Given the description of an element on the screen output the (x, y) to click on. 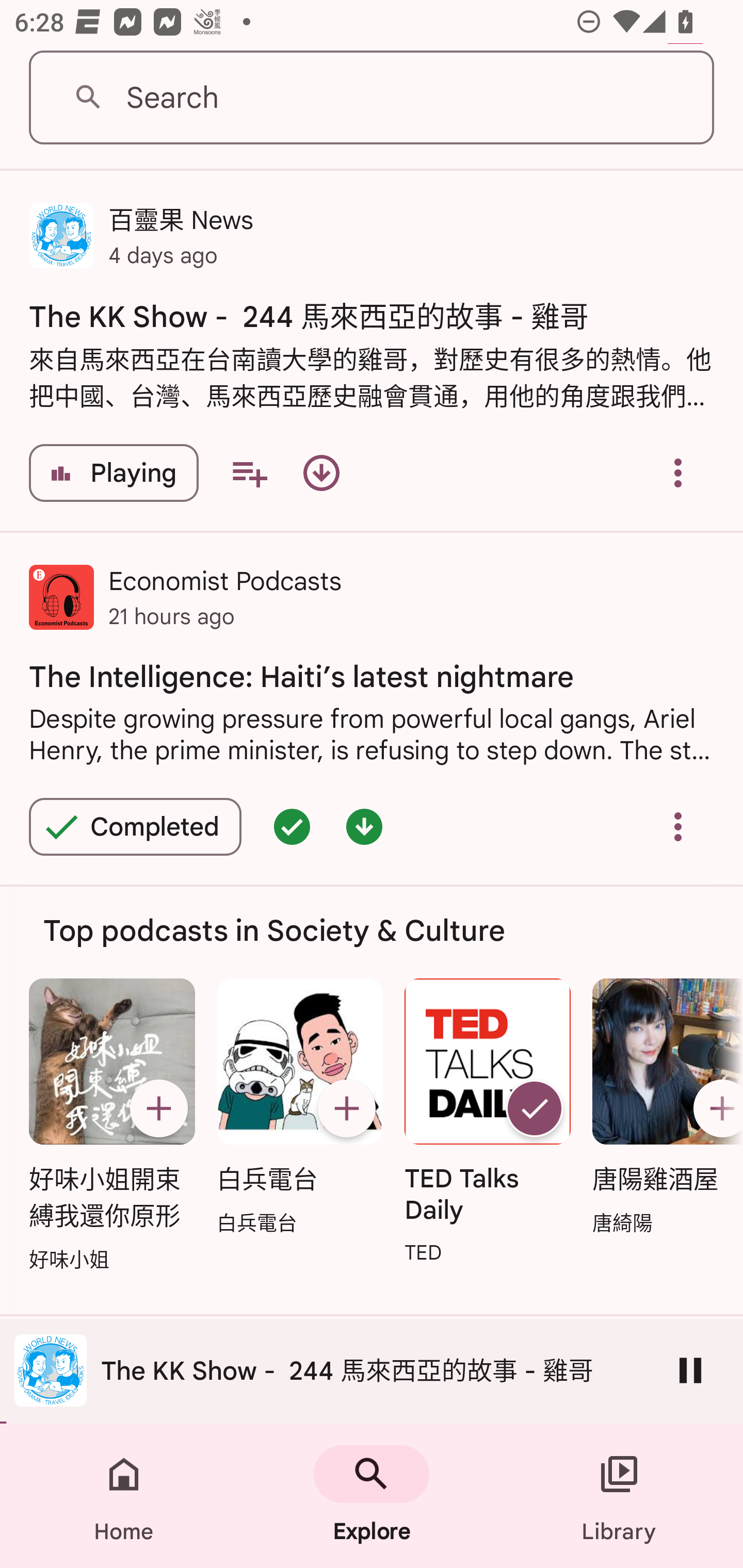
Search (371, 97)
Add to your queue (249, 472)
Download episode (321, 472)
Overflow menu (677, 472)
Episode queued - double tap for options (291, 827)
Episode downloaded - double tap for options (364, 827)
Overflow menu (677, 827)
好味小姐開束縛我還你原形 Subscribe 好味小姐開束縛我還你原形 好味小姐 (111, 1126)
白兵電台 Subscribe 白兵電台 白兵電台 (299, 1107)
TED Talks Daily Unsubscribe TED Talks Daily TED (487, 1122)
唐陽雞酒屋 Subscribe 唐陽雞酒屋 唐綺陽 (662, 1107)
Subscribe (158, 1108)
Subscribe (346, 1108)
Unsubscribe (534, 1108)
Subscribe (714, 1108)
Pause (690, 1370)
Home (123, 1495)
Library (619, 1495)
